Given the description of an element on the screen output the (x, y) to click on. 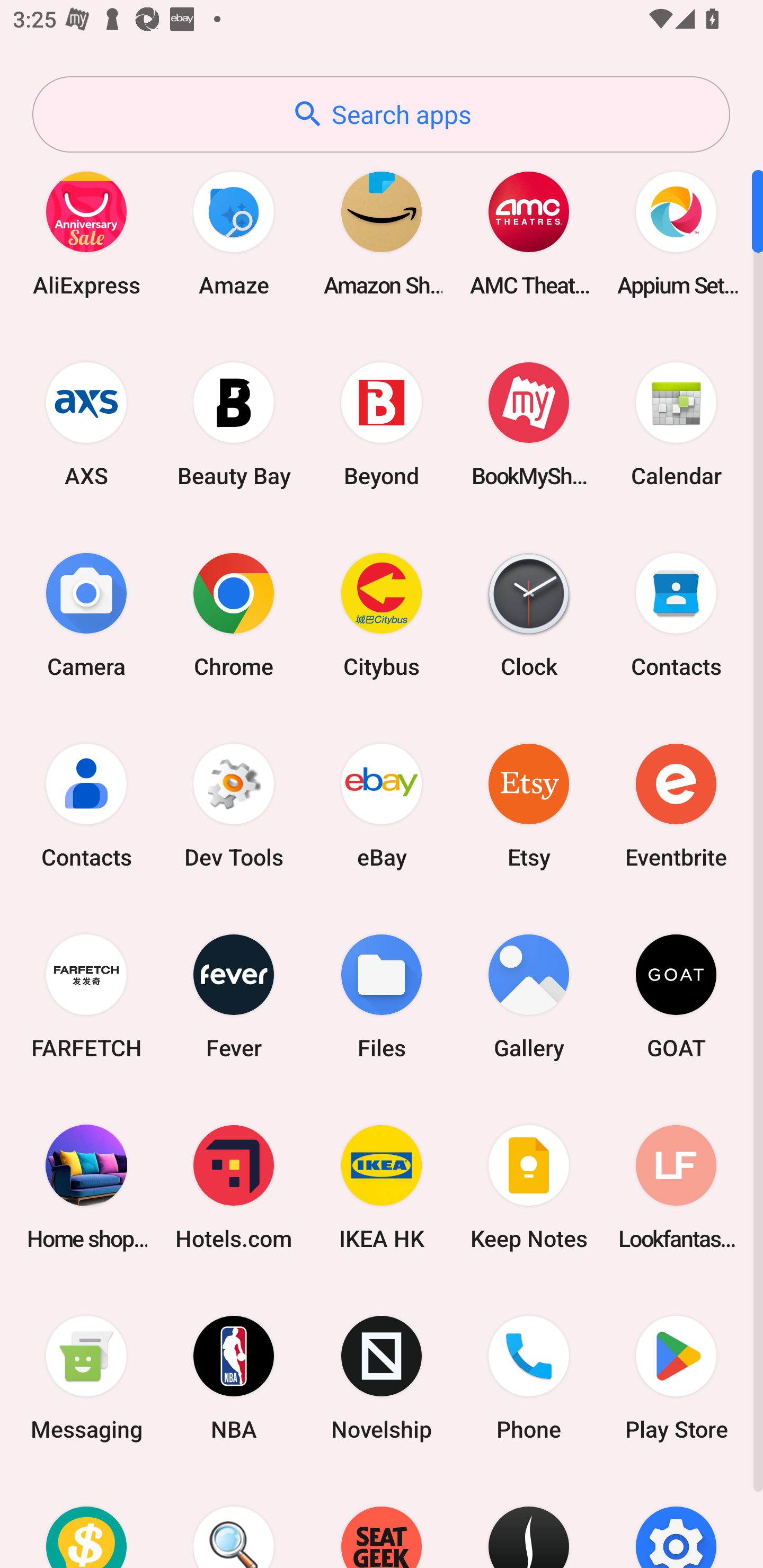
  Search apps (381, 114)
AliExpress (86, 233)
Amaze (233, 233)
Amazon Shopping (381, 233)
AMC Theatres (528, 233)
Appium Settings (676, 233)
AXS (86, 424)
Beauty Bay (233, 424)
Beyond (381, 424)
BookMyShow (528, 424)
Calendar (676, 424)
Camera (86, 614)
Chrome (233, 614)
Citybus (381, 614)
Clock (528, 614)
Contacts (676, 614)
Contacts (86, 805)
Dev Tools (233, 805)
eBay (381, 805)
Etsy (528, 805)
Eventbrite (676, 805)
FARFETCH (86, 996)
Fever (233, 996)
Files (381, 996)
Gallery (528, 996)
GOAT (676, 996)
Home shopping (86, 1186)
Hotels.com (233, 1186)
IKEA HK (381, 1186)
Keep Notes (528, 1186)
Lookfantastic (676, 1186)
Messaging (86, 1377)
NBA (233, 1377)
Novelship (381, 1377)
Phone (528, 1377)
Play Store (676, 1377)
